Given the description of an element on the screen output the (x, y) to click on. 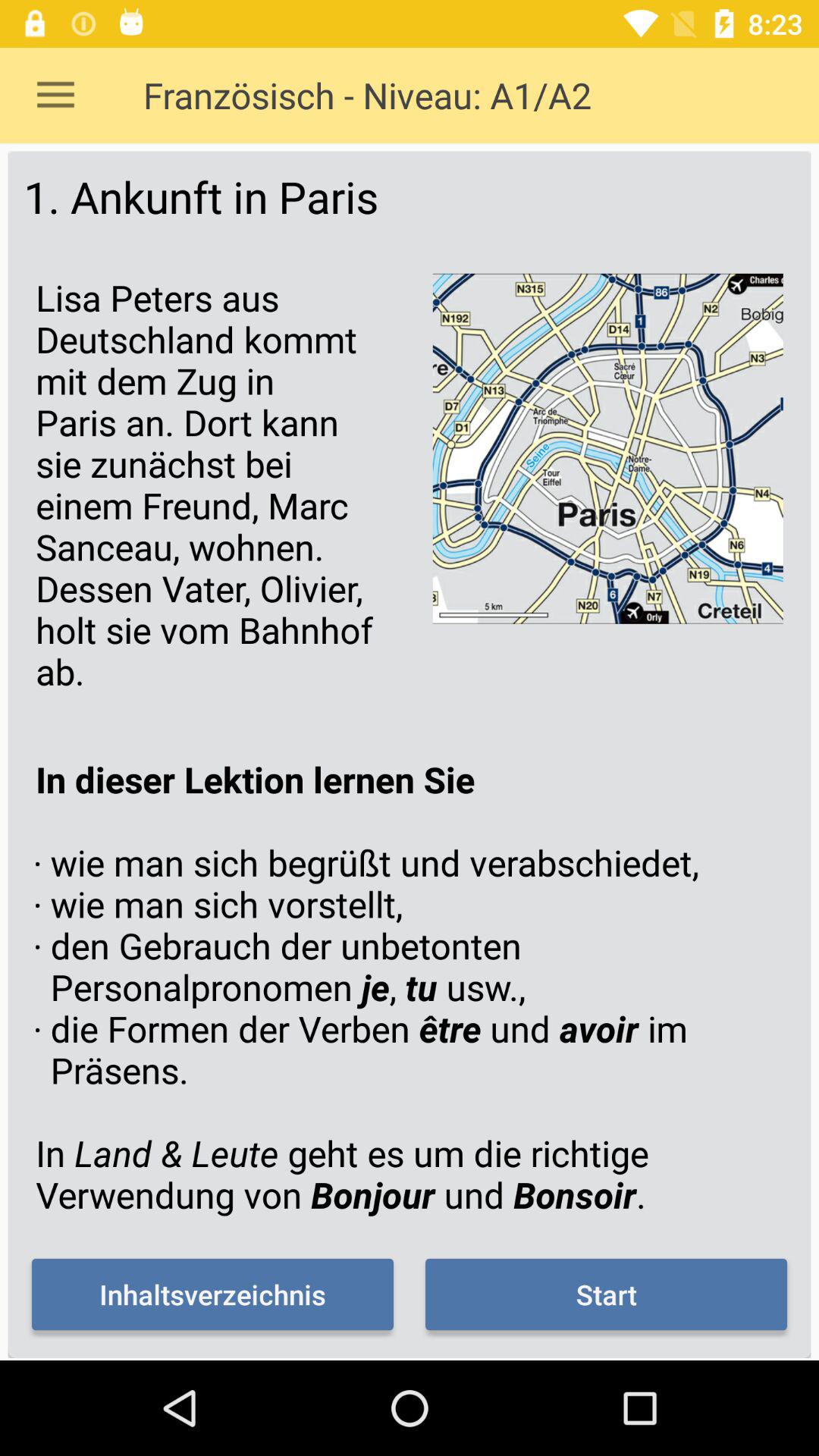
press the icon to the left of start icon (212, 1294)
